Given the description of an element on the screen output the (x, y) to click on. 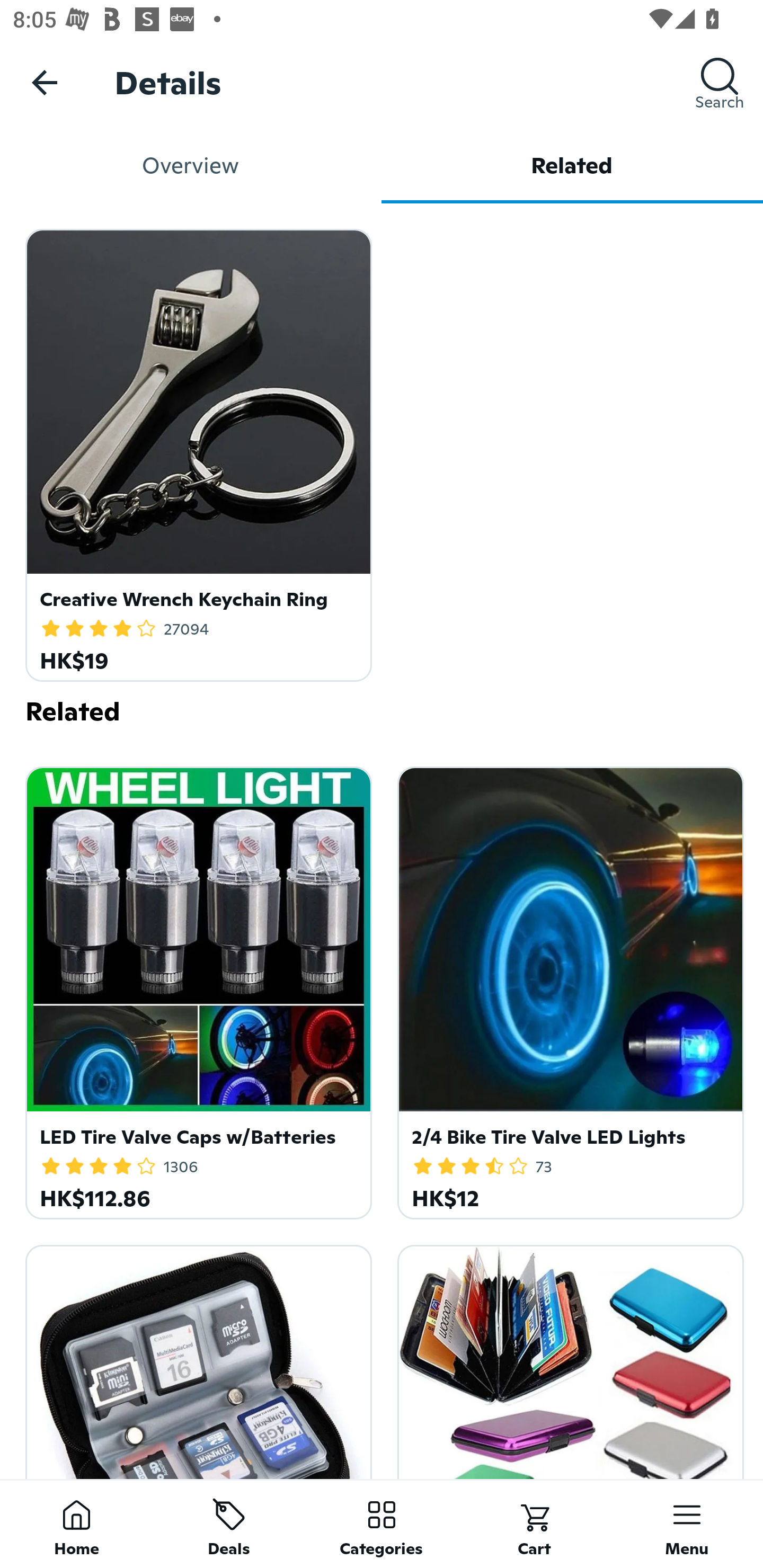
Navigate up (44, 82)
Search (719, 82)
Overview (190, 165)
Home (76, 1523)
Deals (228, 1523)
Categories (381, 1523)
Cart (533, 1523)
Menu (686, 1523)
